Given the description of an element on the screen output the (x, y) to click on. 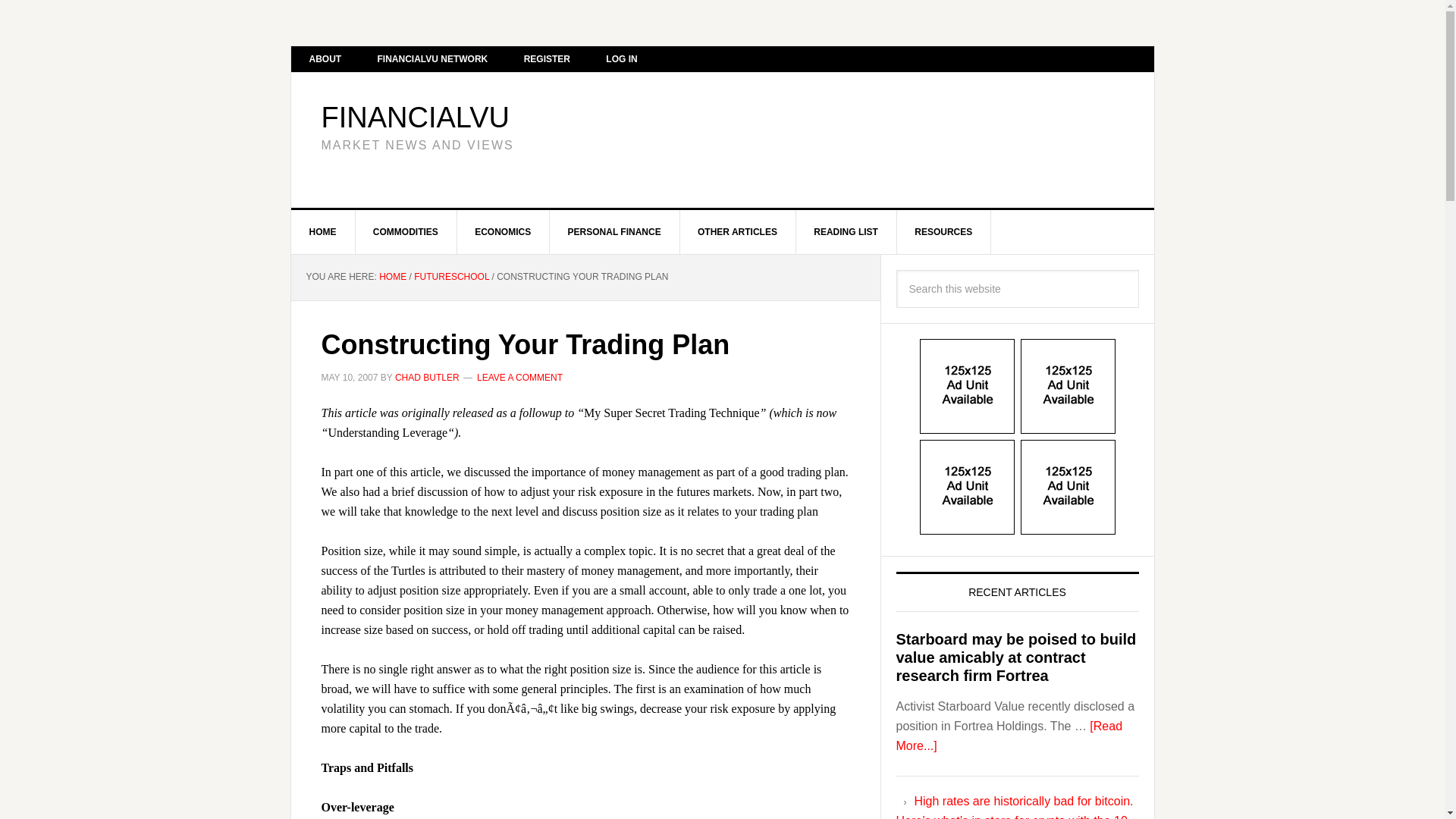
ECONOMICS (503, 231)
HOME (392, 276)
READING LIST (845, 231)
HOME (323, 231)
COMMODITIES (406, 231)
RESOURCES (943, 231)
REGISTER (546, 58)
